Given the description of an element on the screen output the (x, y) to click on. 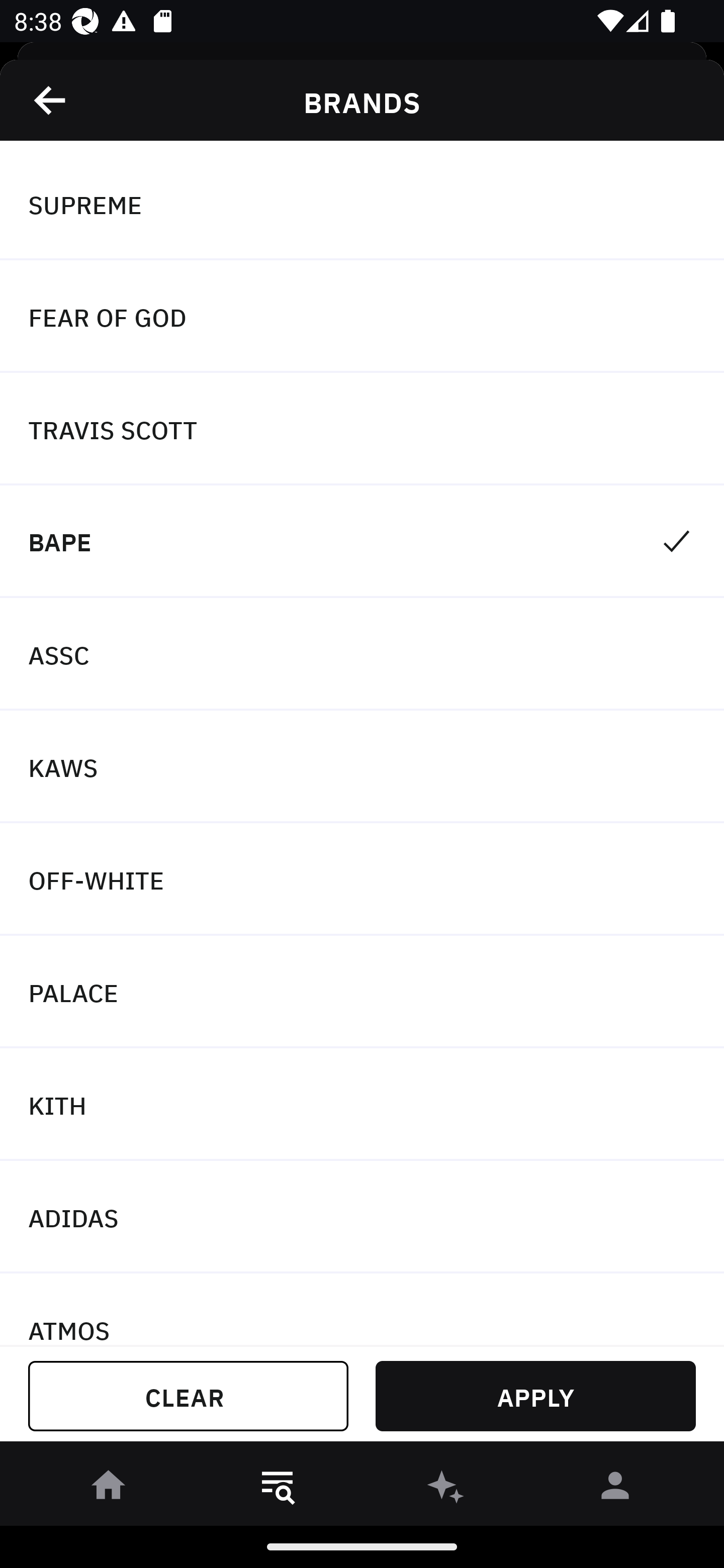
 (50, 100)
SUPREME (362, 203)
FEAR OF GOD (362, 316)
TRAVIS SCOTT (362, 429)
BAPE  (362, 541)
ASSC (362, 653)
KAWS (362, 766)
OFF-WHITE (362, 879)
PALACE (362, 992)
KITH (362, 1104)
ADIDAS (362, 1216)
ATMOS (362, 1309)
CLEAR  (188, 1396)
APPLY (535, 1396)
󰋜 (108, 1488)
󱎸 (277, 1488)
󰫢 (446, 1488)
󰀄 (615, 1488)
